Given the description of an element on the screen output the (x, y) to click on. 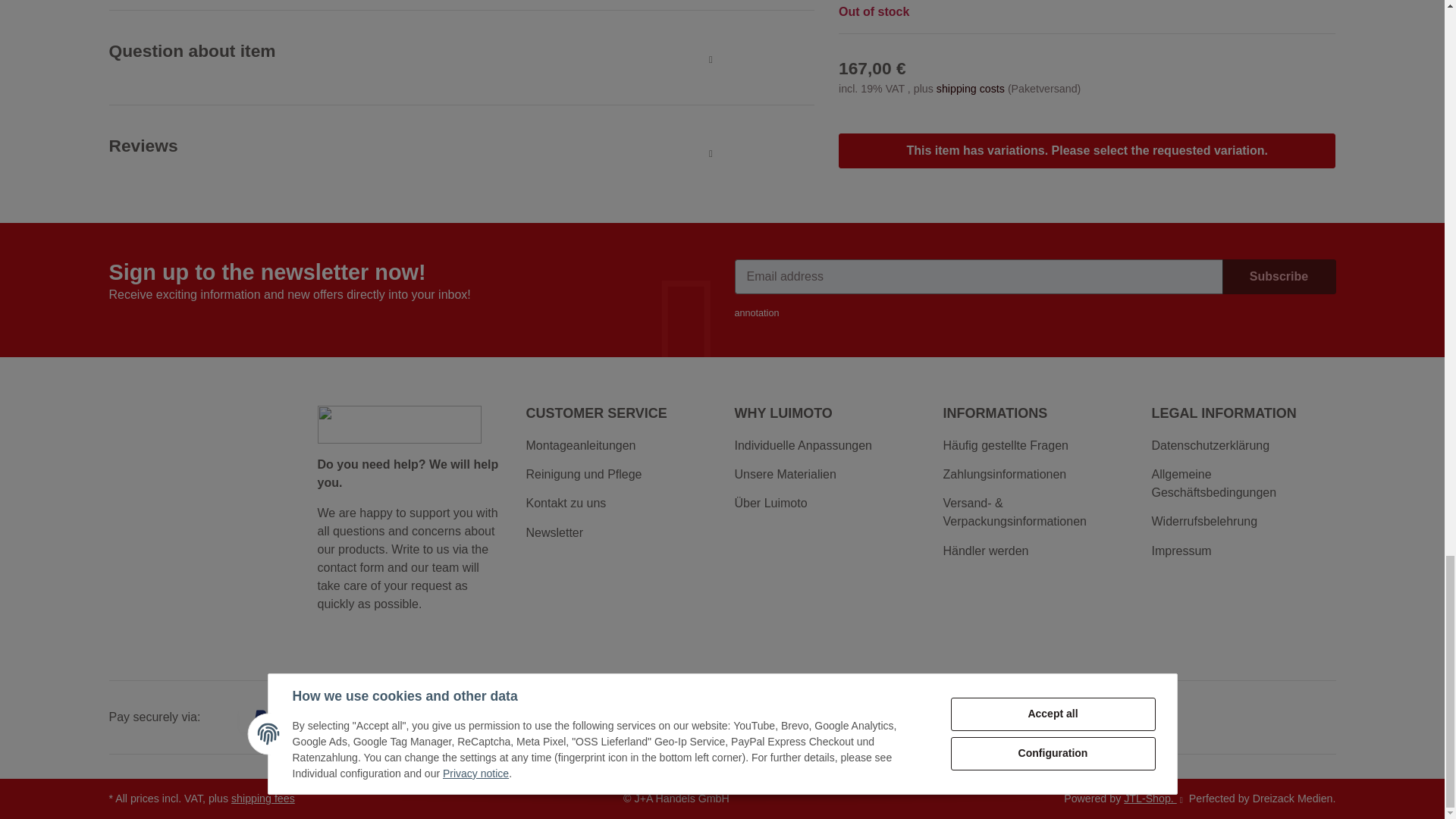
Montageanleitungen (617, 445)
Subscribe (1279, 276)
Reinigung und Pflege (617, 474)
